Given the description of an element on the screen output the (x, y) to click on. 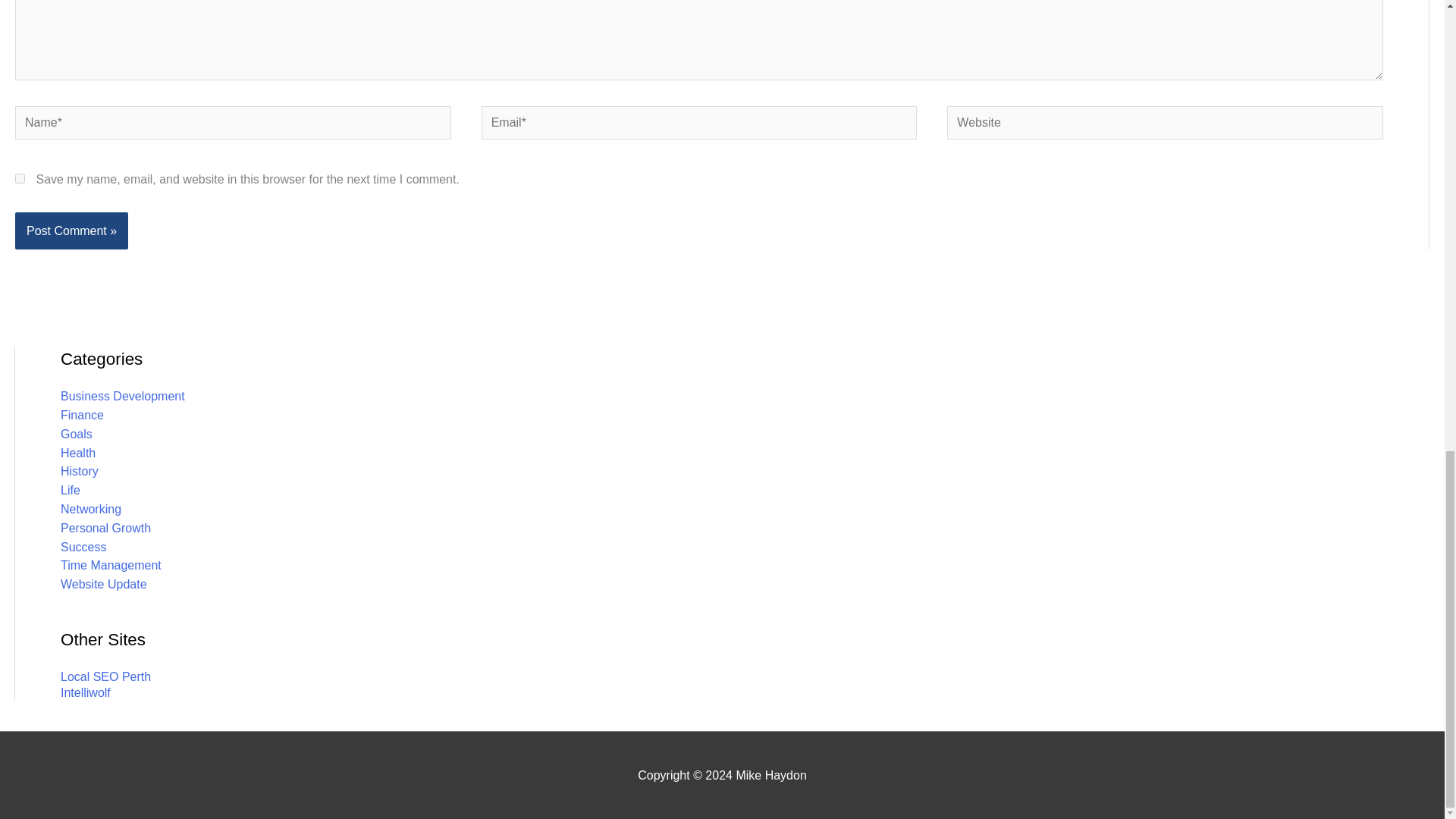
Goals (77, 433)
Networking (90, 508)
Business Development (122, 395)
Finance (82, 414)
Local SEO Perth (106, 676)
Time Management (111, 564)
Website Update (104, 584)
Personal Growth (106, 527)
History (80, 471)
yes (19, 178)
Success (83, 546)
Life (70, 490)
Intelliwolf (85, 692)
Health (78, 452)
